Given the description of an element on the screen output the (x, y) to click on. 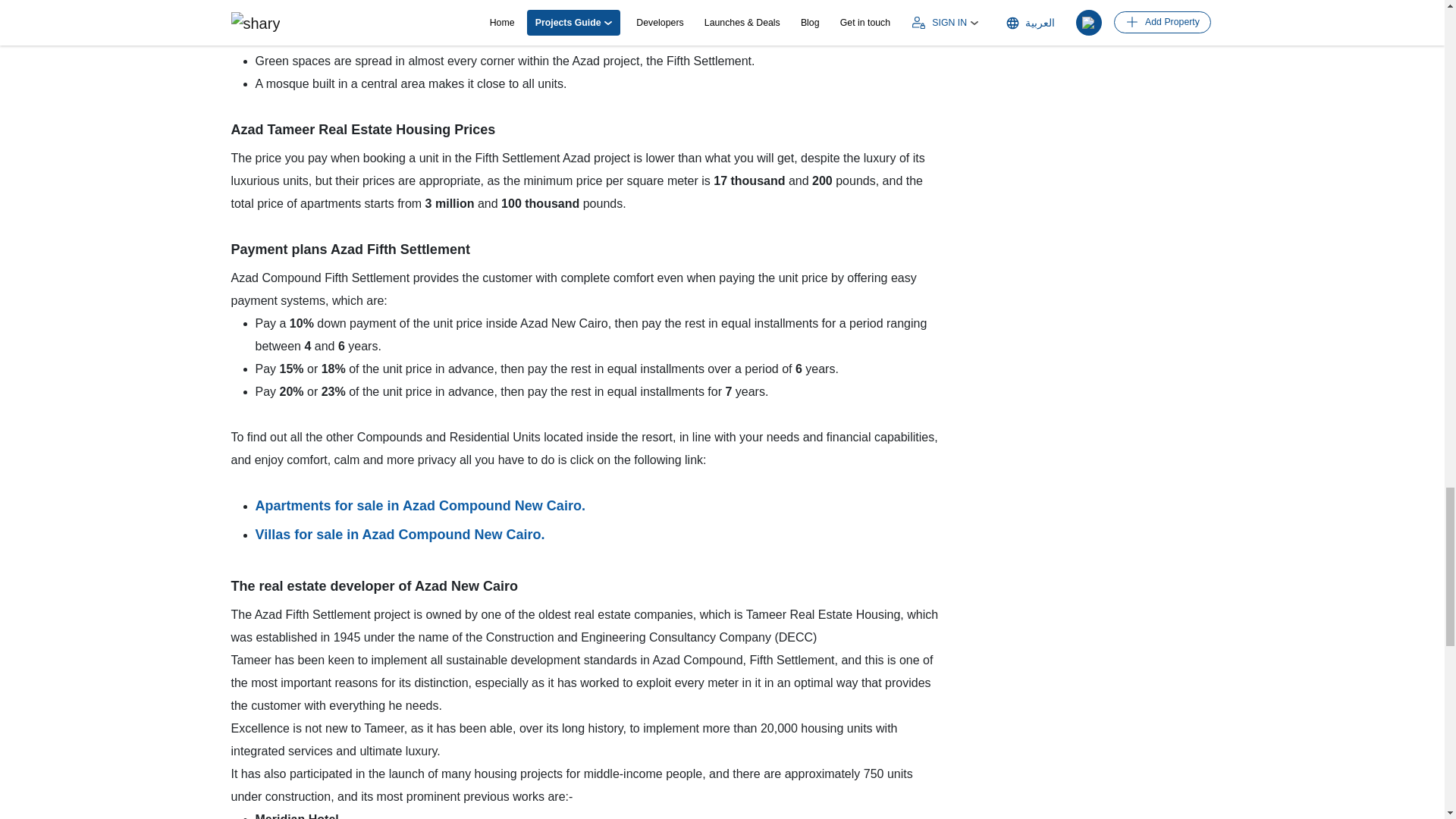
Apartments for sale in Azad Compound New Cairo. (419, 505)
